Given the description of an element on the screen output the (x, y) to click on. 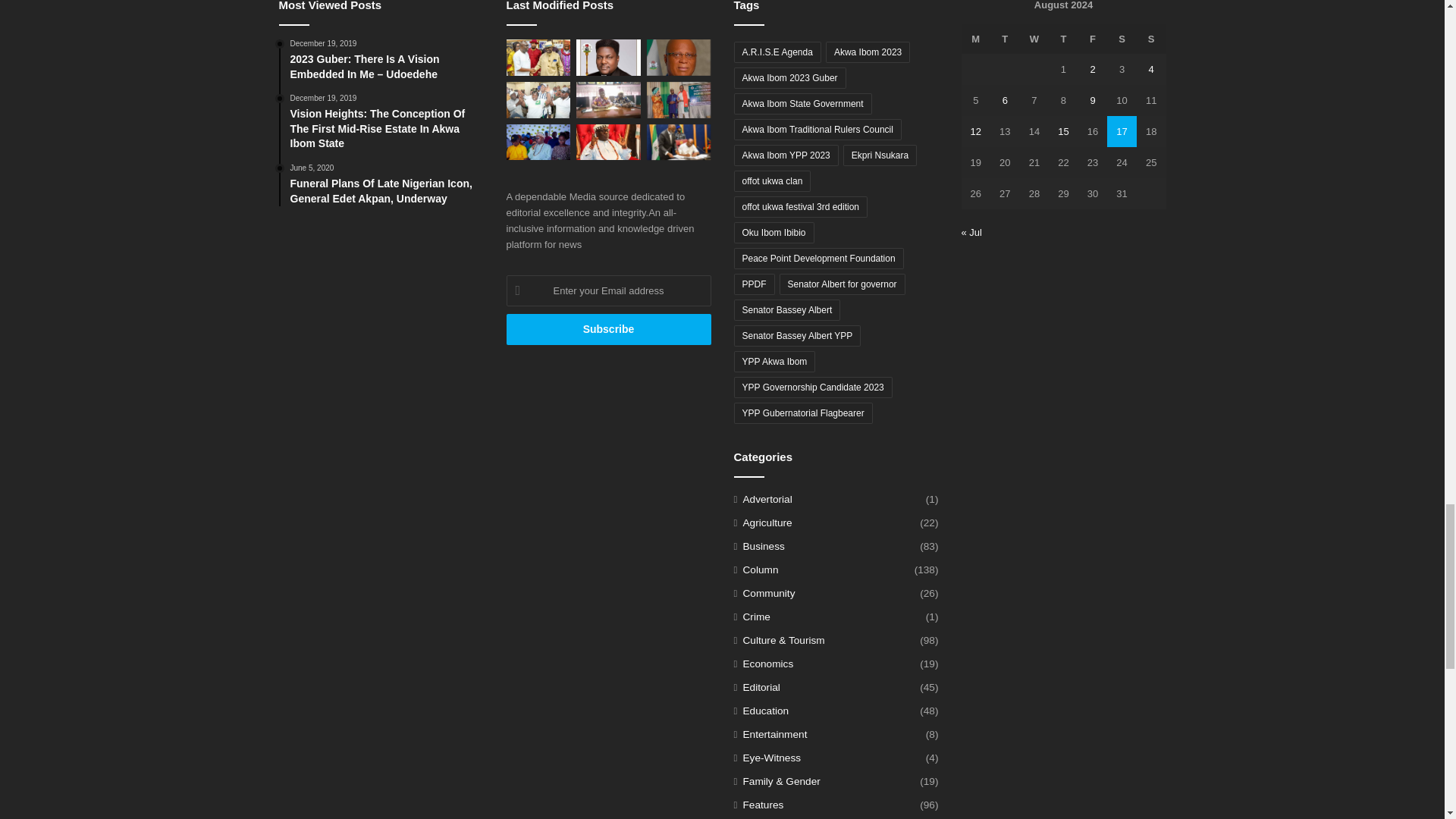
Subscribe (608, 328)
Wednesday (1034, 39)
Sunday (1151, 39)
Monday (975, 39)
Saturday (1121, 39)
Thursday (1063, 39)
Friday (1093, 39)
Tuesday (1005, 39)
